Given the description of an element on the screen output the (x, y) to click on. 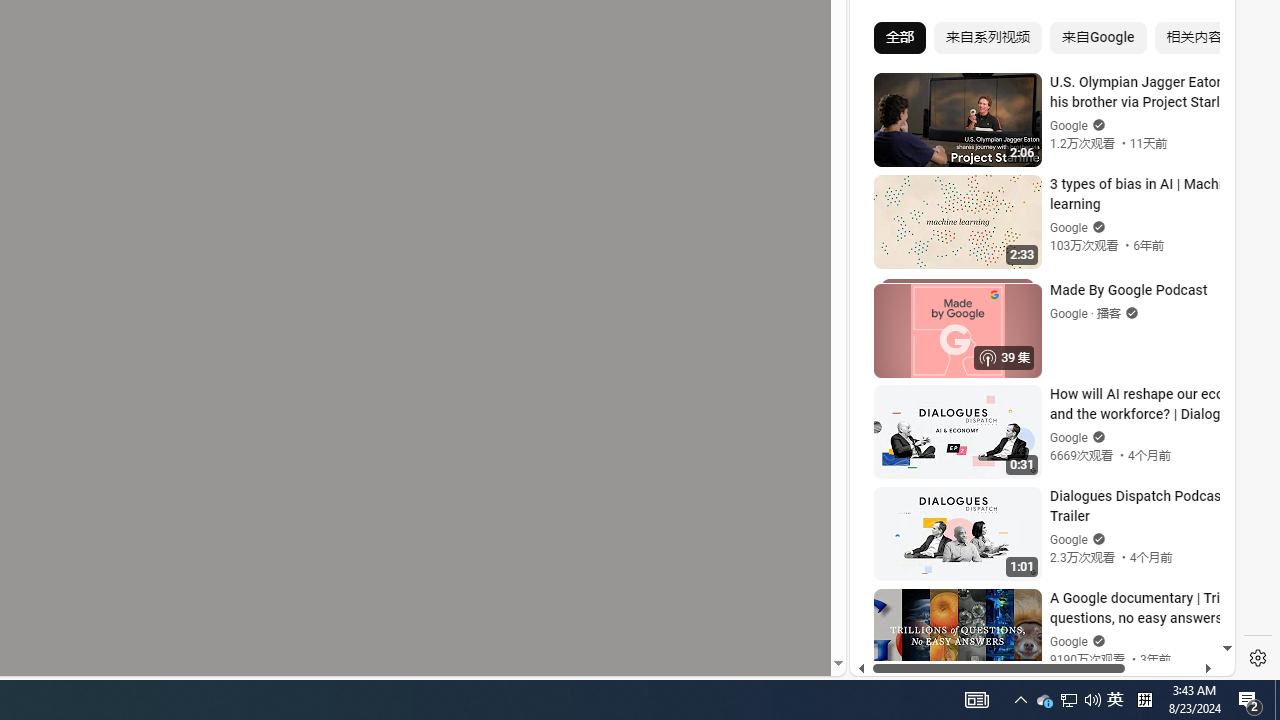
Click to scroll right (1196, 83)
YouTube (1034, 432)
